Given the description of an element on the screen output the (x, y) to click on. 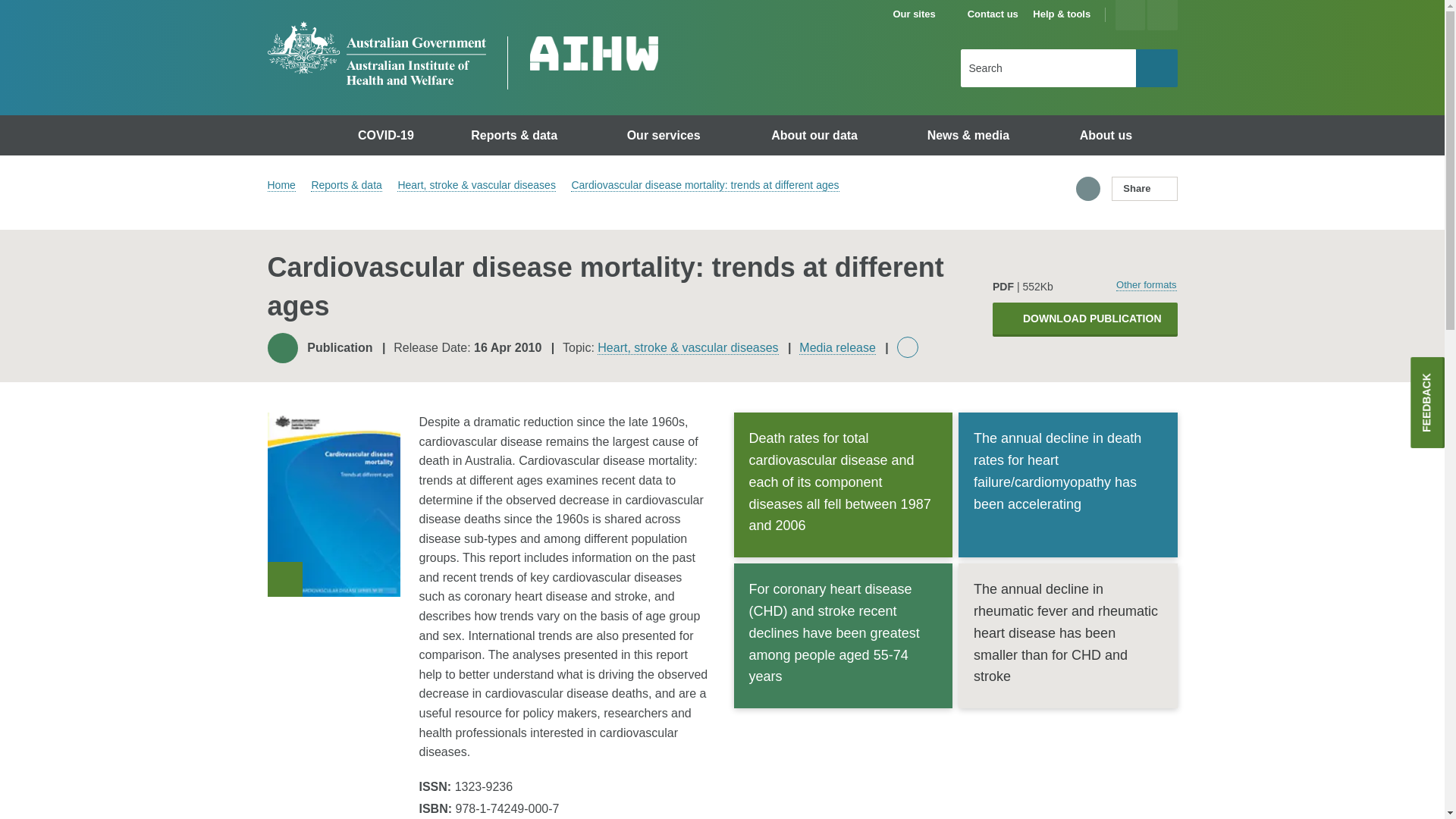
COVID-19 (388, 135)
Contact us (992, 14)
Our sites (921, 14)
Australian Institute of Health and Welfare (375, 53)
Increase text size (1130, 15)
Search (1156, 67)
Decrease text size (1162, 15)
